Given the description of an element on the screen output the (x, y) to click on. 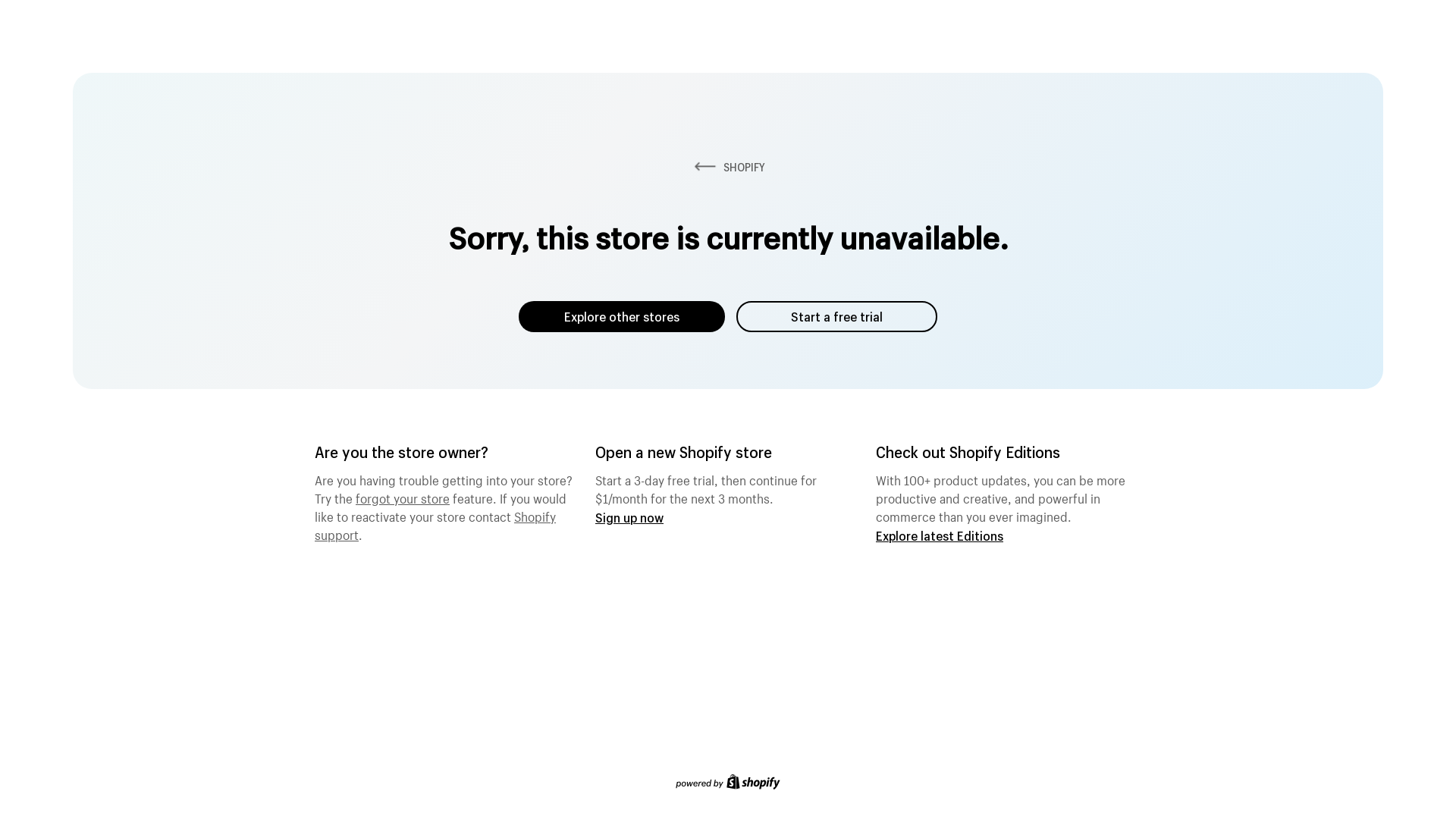
Shopify support Element type: text (434, 523)
Sign up now Element type: text (629, 517)
forgot your store Element type: text (402, 496)
Start a free trial Element type: text (836, 316)
SHOPIFY Element type: text (727, 167)
Explore latest Editions Element type: text (939, 535)
Explore other stores Element type: text (621, 316)
